Given the description of an element on the screen output the (x, y) to click on. 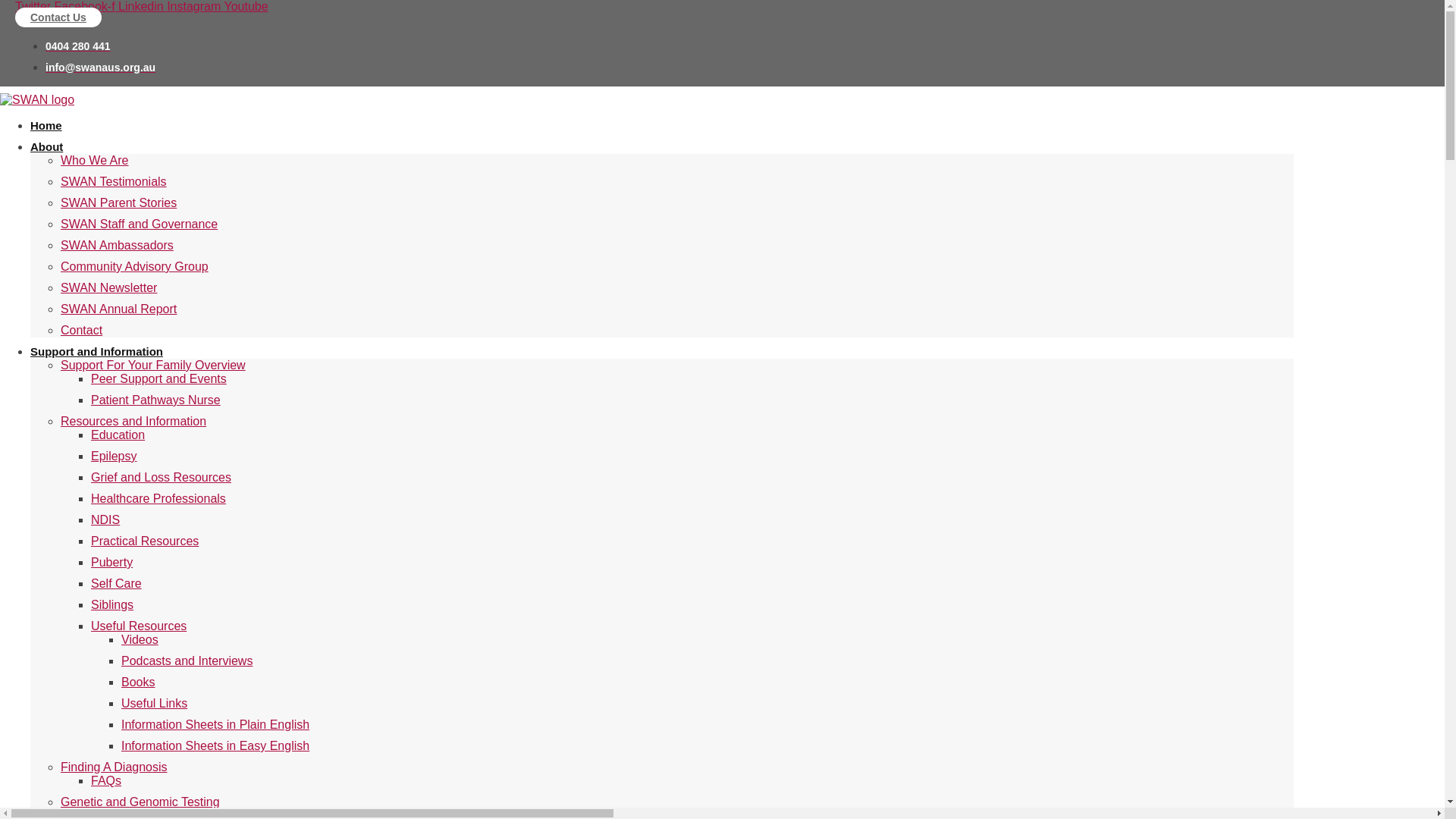
Home Element type: text (46, 125)
Facebook-f Element type: text (86, 6)
Healthcare Professionals Element type: text (158, 498)
SWAN Testimonials Element type: text (113, 181)
Support and Information Element type: text (96, 351)
info@swanaus.org.au Element type: text (100, 67)
Who We Are Element type: text (94, 159)
Finding A Diagnosis Element type: text (113, 766)
Peer Support and Events Element type: text (158, 378)
About Element type: text (46, 146)
SWAN Ambassadors Element type: text (116, 244)
Community Advisory Group Element type: text (134, 266)
Useful Resources Element type: text (138, 625)
Videos Element type: text (139, 639)
Useful Links Element type: text (154, 702)
Education Element type: text (117, 434)
Epilepsy Element type: text (113, 455)
SWAN Annual Report Element type: text (118, 308)
Siblings Element type: text (112, 604)
Puberty Element type: text (111, 561)
Self Care Element type: text (116, 583)
0404 280 441 Element type: text (77, 46)
Twitter Element type: text (34, 6)
SWAN Parent Stories Element type: text (118, 202)
Support For Your Family Overview Element type: text (152, 364)
Podcasts and Interviews Element type: text (186, 660)
SWAN Newsletter Element type: text (108, 287)
Books Element type: text (137, 681)
Practical Resources Element type: text (144, 540)
Instagram Element type: text (194, 6)
FAQs Element type: text (106, 780)
Information Sheets in Easy English Element type: text (215, 745)
Patient Pathways Nurse Element type: text (155, 399)
Youtube Element type: text (245, 6)
Contact Element type: text (81, 329)
Resources and Information Element type: text (133, 420)
Linkedin Element type: text (142, 6)
Genetic and Genomic Testing Element type: text (139, 801)
Contact Us Element type: text (58, 17)
NDIS Element type: text (105, 519)
SWAN Staff and Governance Element type: text (138, 223)
Information Sheets in Plain English Element type: text (215, 724)
Grief and Loss Resources Element type: text (161, 476)
